Given the description of an element on the screen output the (x, y) to click on. 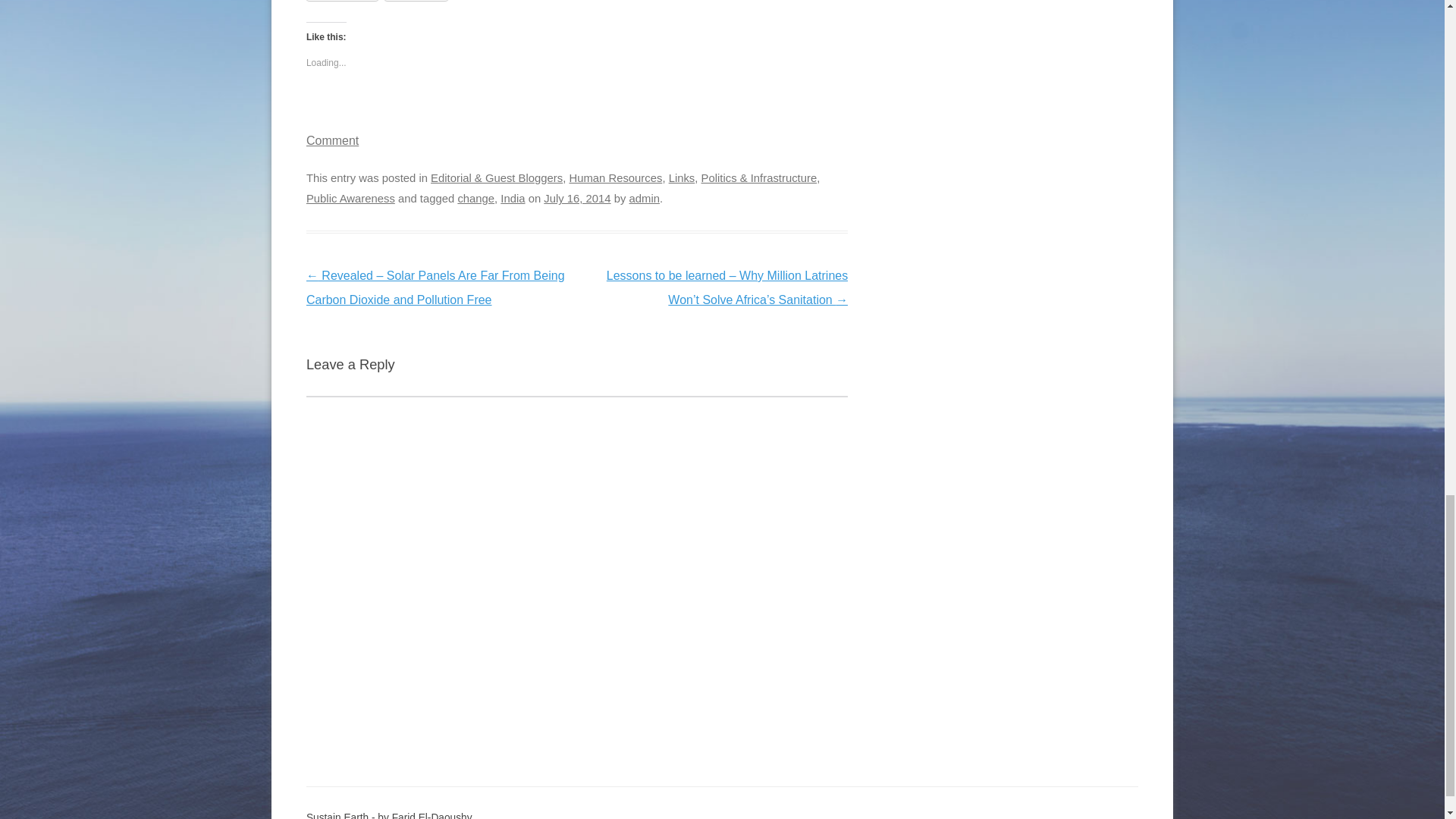
Click to share on Pocket (416, 0)
Public Awareness (349, 198)
India (512, 198)
admin (643, 198)
Like or Reblog (576, 114)
View all posts by admin (643, 198)
Pocket (416, 0)
4:39 pm (576, 198)
